Given the description of an element on the screen output the (x, y) to click on. 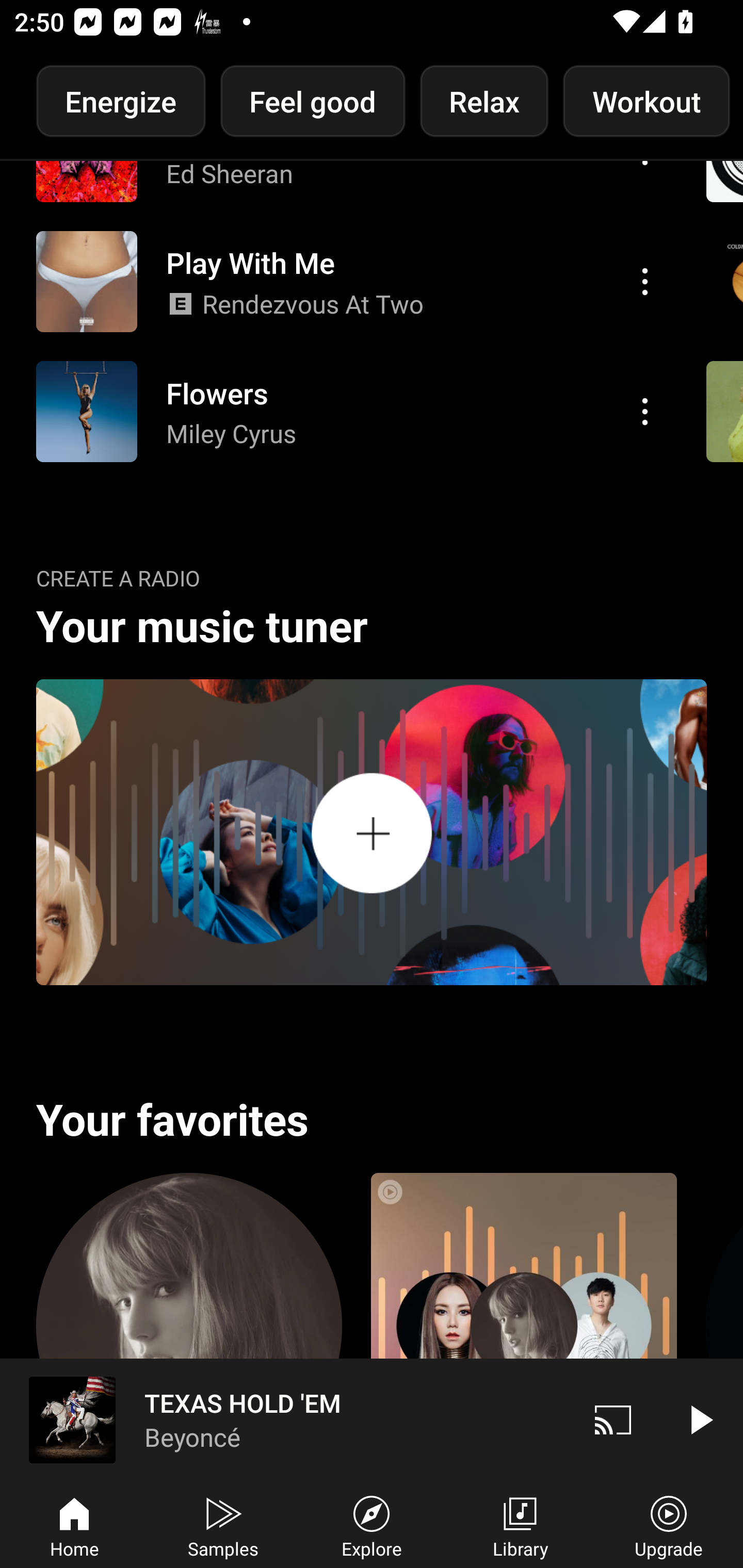
Action menu (349, 281)
Action menu (644, 281)
Action menu (349, 411)
Action menu (644, 411)
TEXAS HOLD 'EM Beyoncé (284, 1419)
Cast. Disconnected (612, 1419)
Play video (699, 1419)
Home (74, 1524)
Samples (222, 1524)
Explore (371, 1524)
Library (519, 1524)
Upgrade (668, 1524)
